Given the description of an element on the screen output the (x, y) to click on. 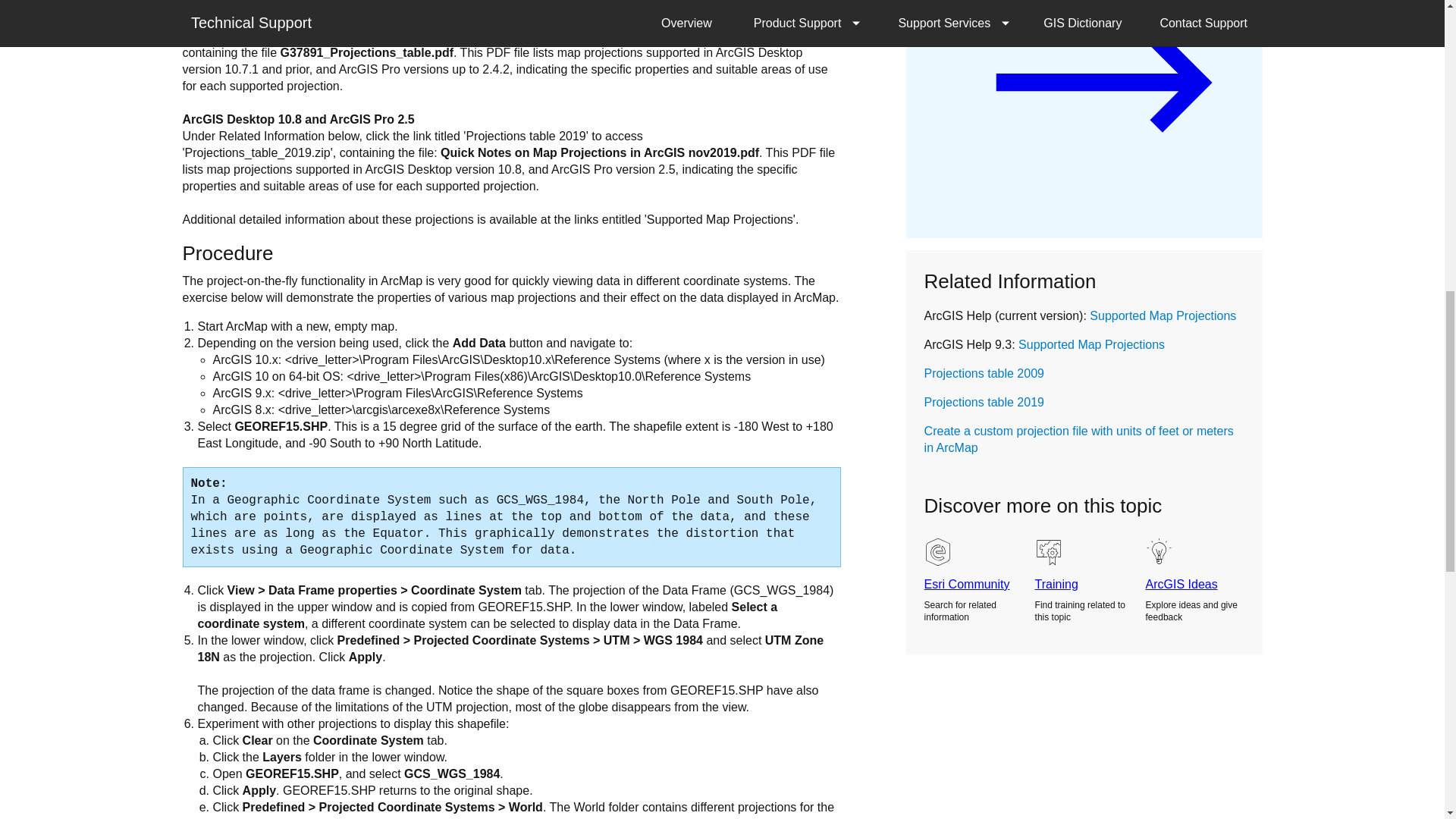
Supported Map Projections (1162, 315)
Projections table 2009 (983, 373)
Projections table 2019 (983, 401)
Supported Map Projections (1090, 344)
